Given the description of an element on the screen output the (x, y) to click on. 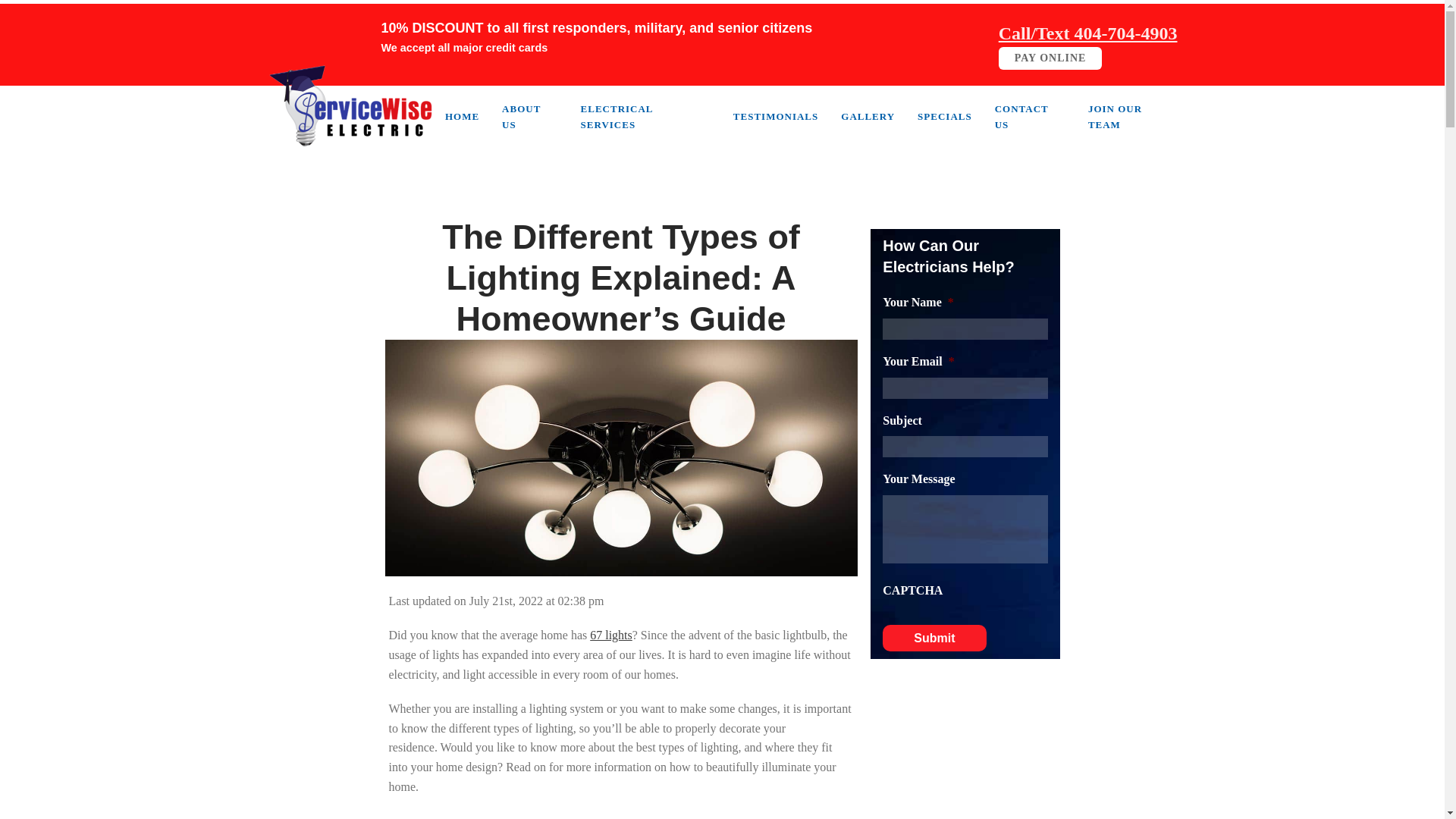
PAY ONLINE (1050, 57)
Submit (933, 637)
ABOUT US (529, 117)
ELECTRICAL SERVICES (645, 117)
HOME (461, 116)
